Given the description of an element on the screen output the (x, y) to click on. 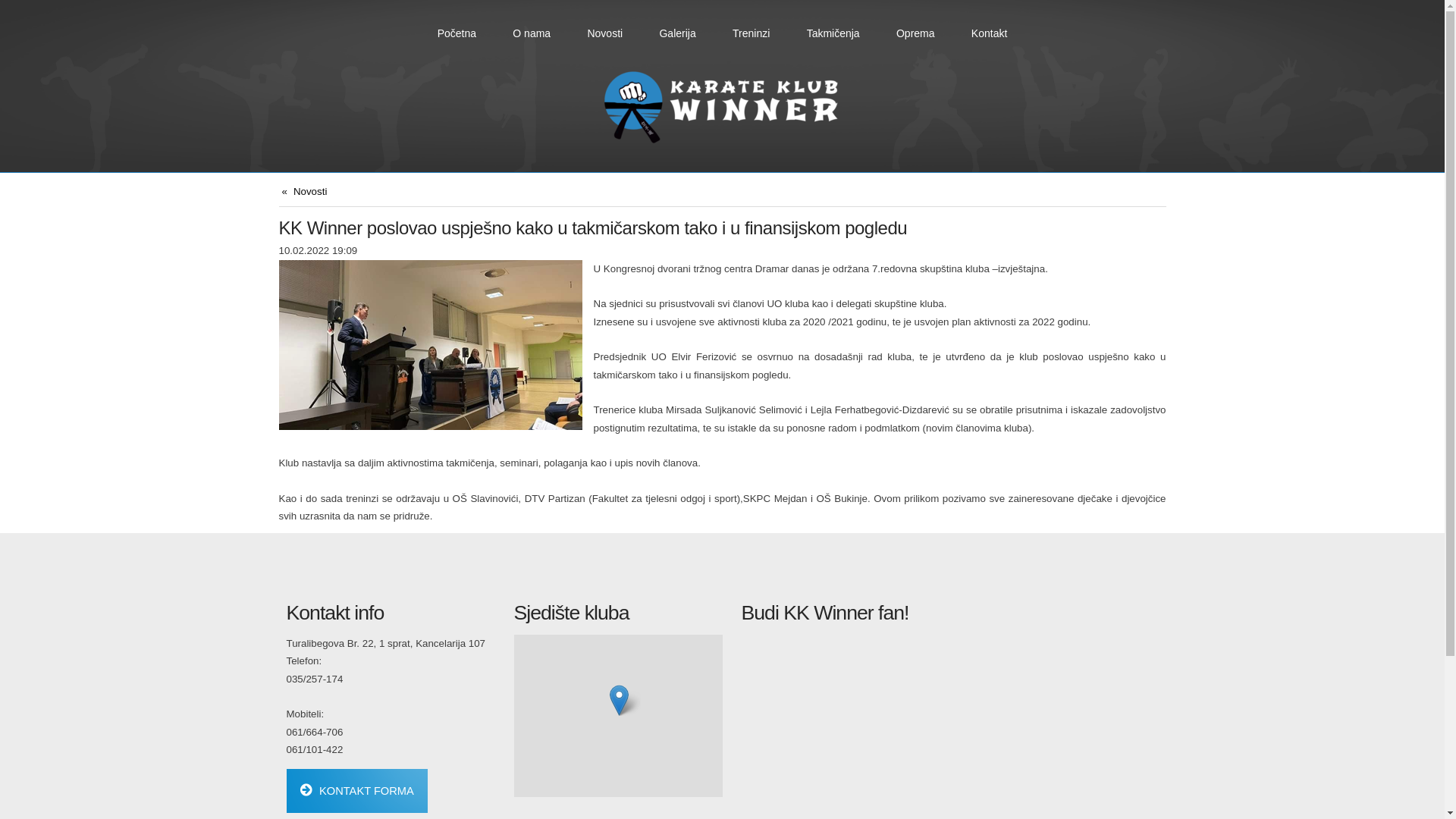
Novosti Element type: text (605, 33)
KONTAKT FORMA Element type: text (357, 790)
Kontakt Element type: text (988, 33)
Treninzi Element type: text (751, 33)
Galerija Element type: text (677, 33)
O nama Element type: text (531, 33)
Novosti Element type: text (304, 191)
Oprema Element type: text (914, 33)
